Given the description of an element on the screen output the (x, y) to click on. 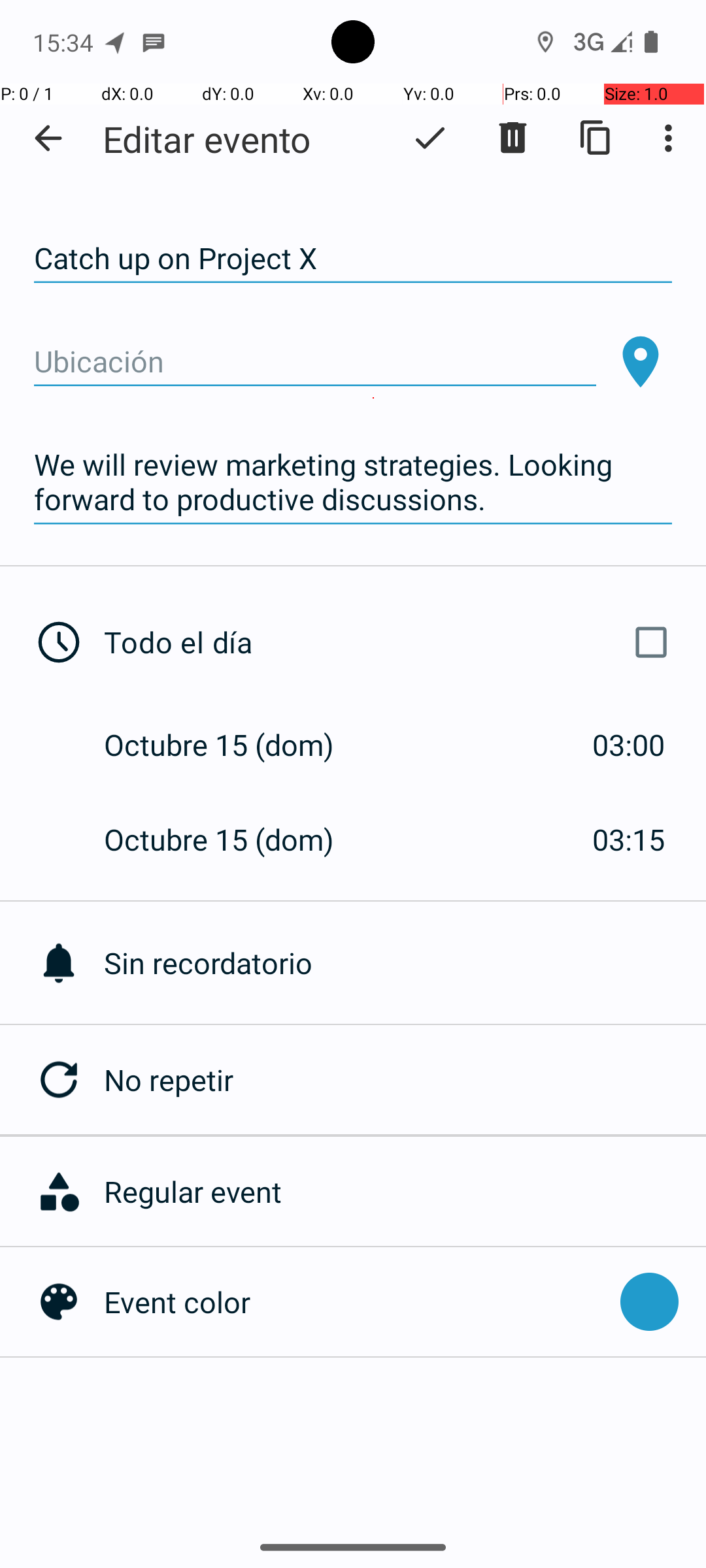
Editar evento Element type: android.widget.TextView (206, 138)
Guardar Element type: android.widget.Button (429, 137)
Eliminar Element type: android.widget.Button (512, 137)
Duplicar un evento Element type: android.widget.Button (595, 137)
Más opciones Element type: android.widget.ImageView (671, 137)
Catch up on Project X Element type: android.widget.EditText (352, 258)
Ubicación Element type: android.widget.EditText (314, 361)
We will review marketing strategies. Looking forward to productive discussions. Element type: android.widget.EditText (352, 482)
Octubre 15 (dom) Element type: android.widget.TextView (232, 744)
03:00 Element type: android.widget.TextView (628, 744)
03:15 Element type: android.widget.TextView (628, 838)
Sin recordatorio Element type: android.widget.TextView (404, 962)
No repetir Element type: android.widget.TextView (404, 1079)
Todo el día Element type: android.widget.CheckBox (390, 642)
Regular event Element type: android.widget.TextView (397, 1191)
Event color Element type: android.widget.TextView (354, 1301)
